Given the description of an element on the screen output the (x, y) to click on. 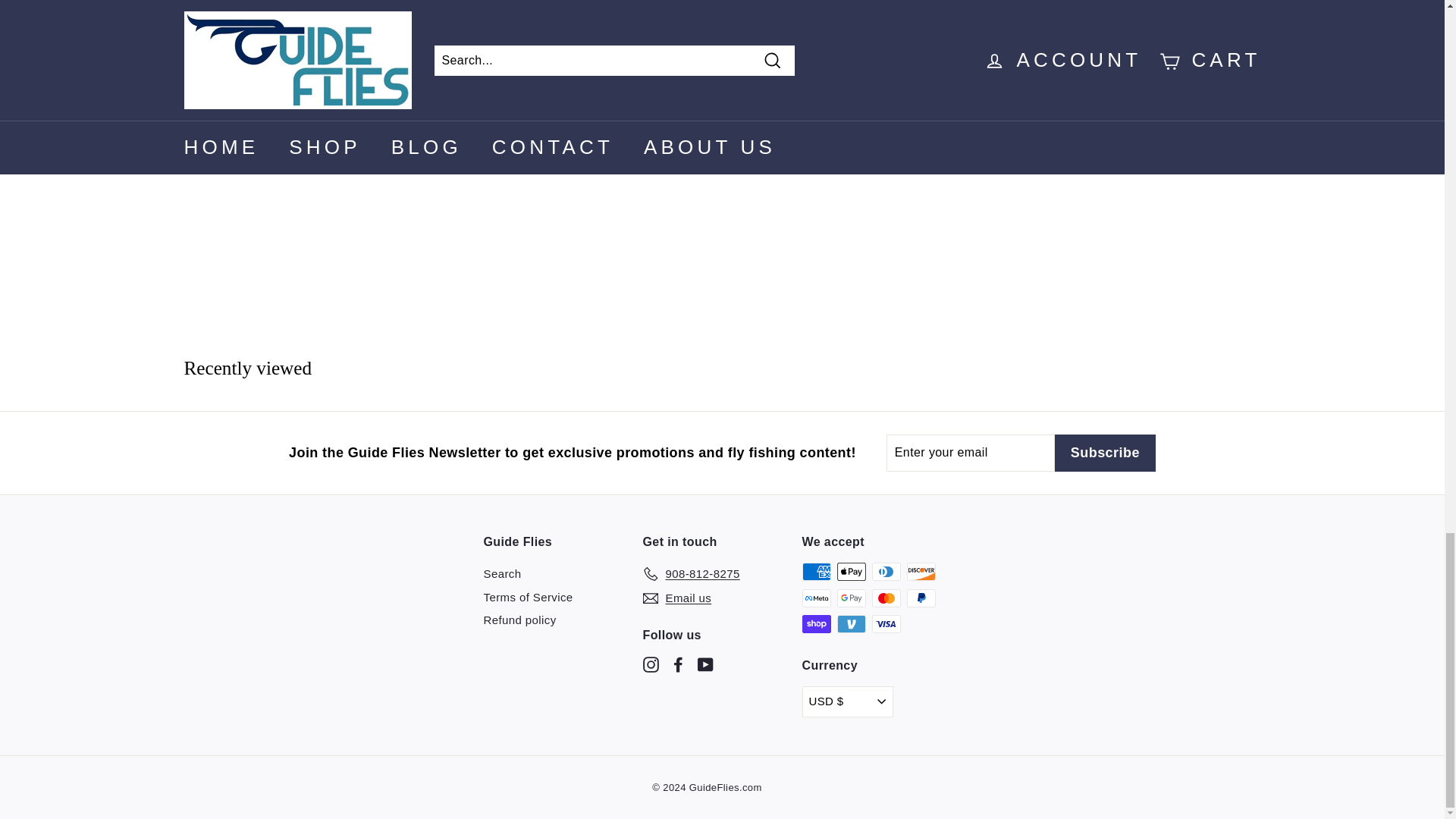
GuideFlies.com (332, 59)
GuideFlies.com on YouTube (705, 664)
GuideFlies.com on Facebook (677, 664)
GuideFlies.com on Instagram (651, 664)
